Given the description of an element on the screen output the (x, y) to click on. 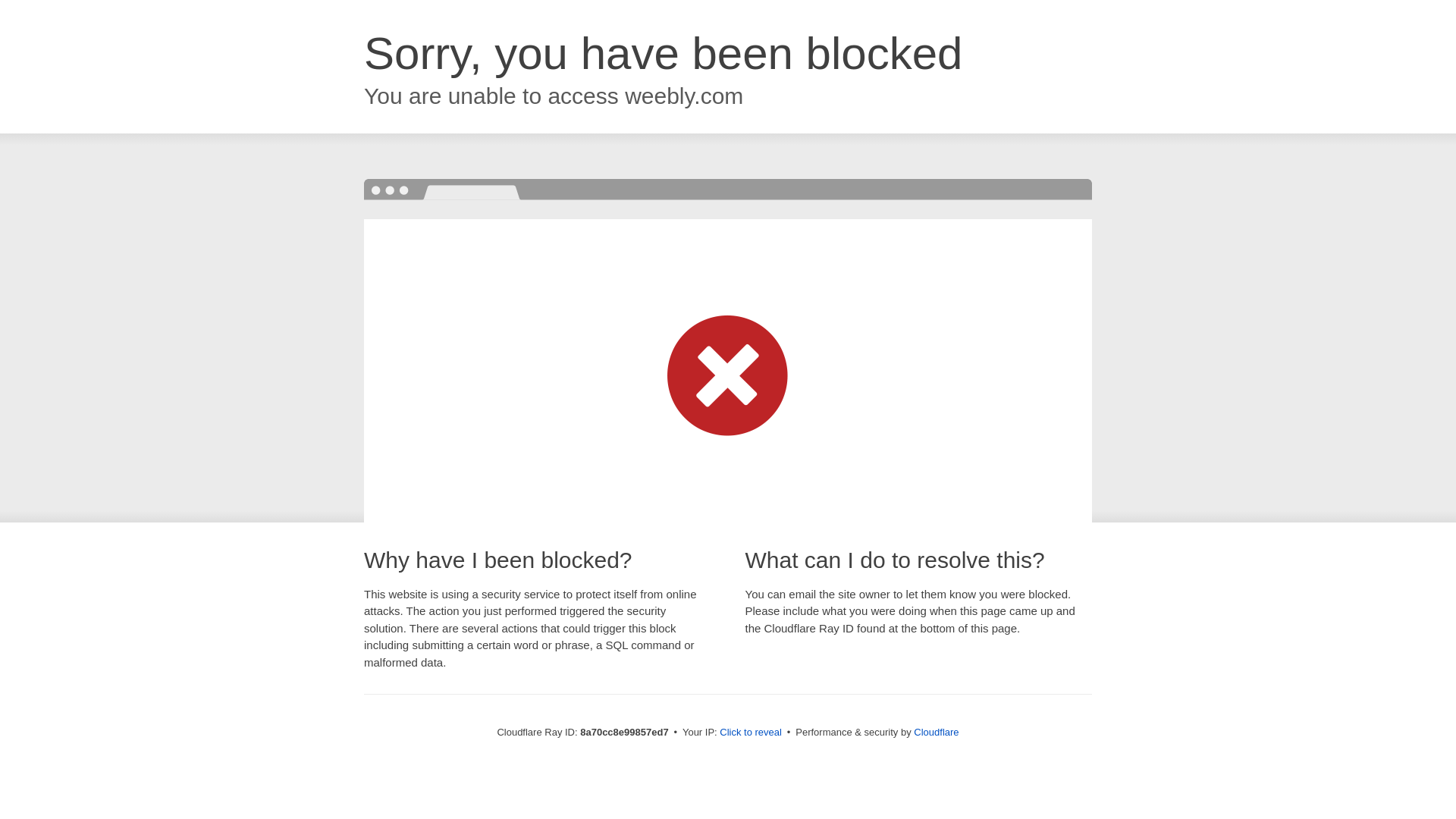
Cloudflare (936, 731)
Click to reveal (750, 732)
